Given the description of an element on the screen output the (x, y) to click on. 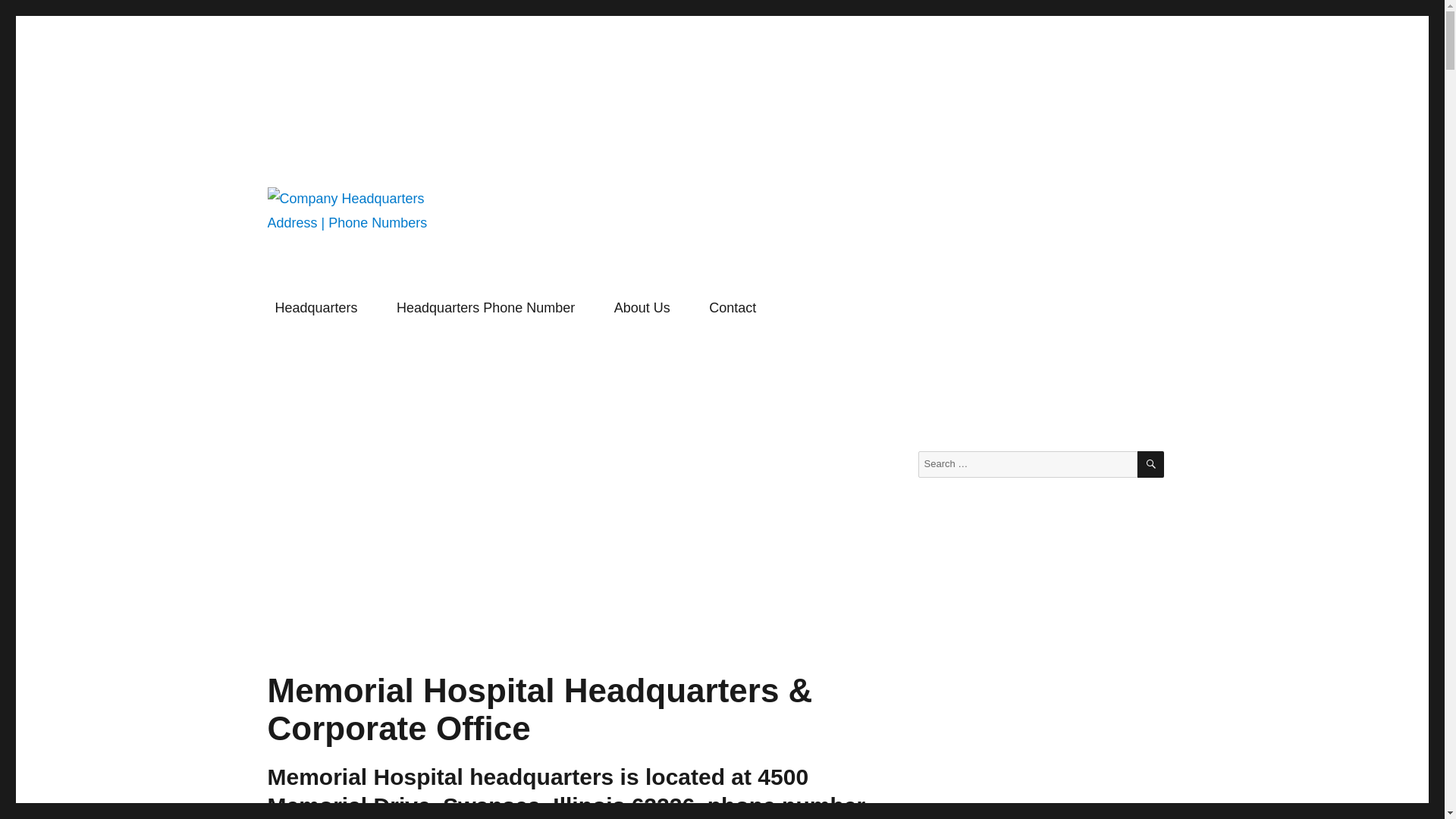
SEARCH (1150, 464)
About Us (642, 307)
Headquarters (316, 307)
Contact (732, 307)
Headquarters Phone Number (485, 307)
